Given the description of an element on the screen output the (x, y) to click on. 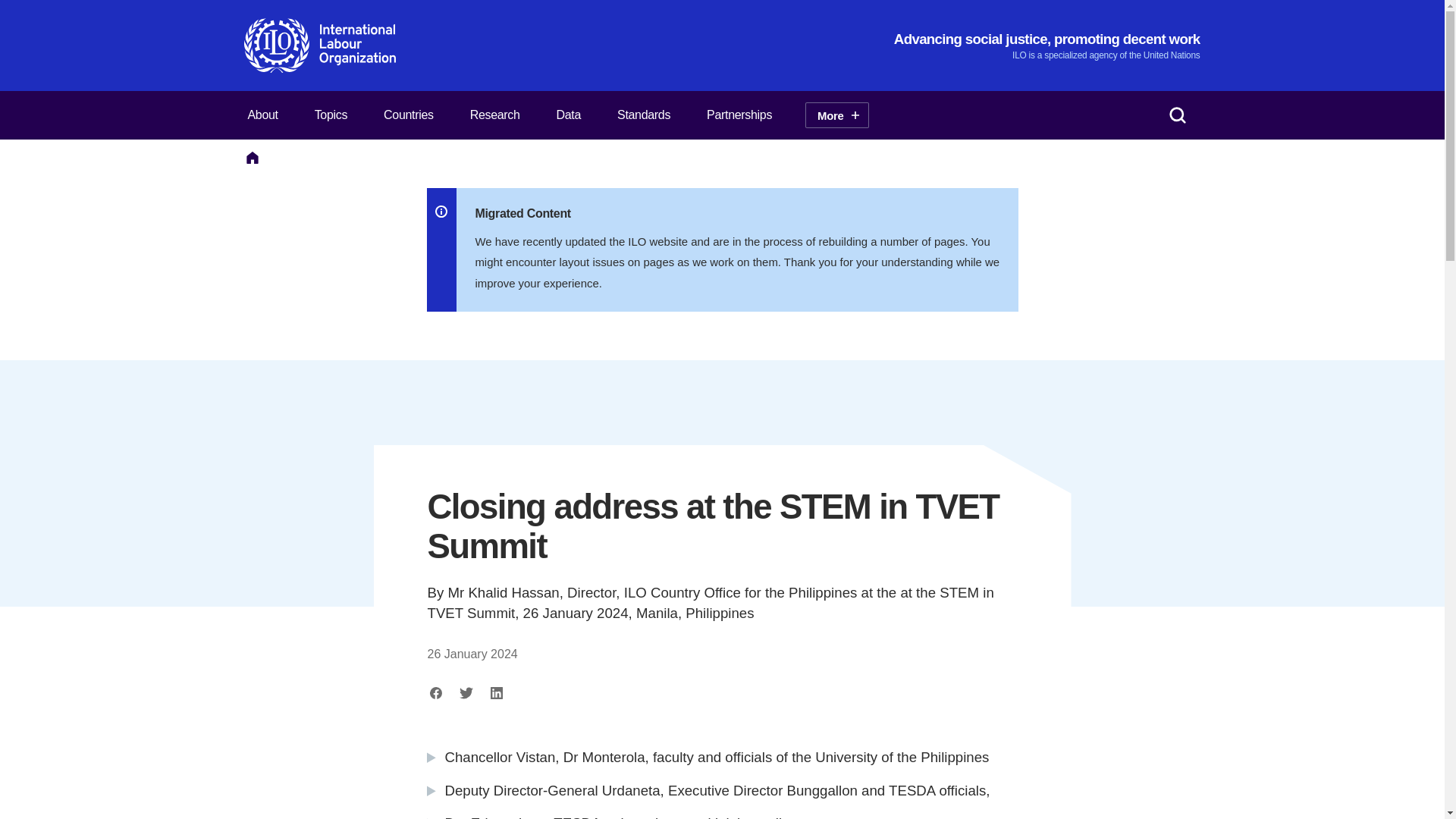
About (261, 114)
Linkedin (496, 692)
Twitter (466, 692)
Data (568, 114)
Countries (408, 114)
Linkedin (496, 692)
Standards (643, 114)
Research (494, 114)
Facebook (436, 692)
Topics (331, 114)
More (836, 114)
Search (1176, 114)
Twitter (466, 692)
Facebook (436, 692)
Partnerships (739, 114)
